Given the description of an element on the screen output the (x, y) to click on. 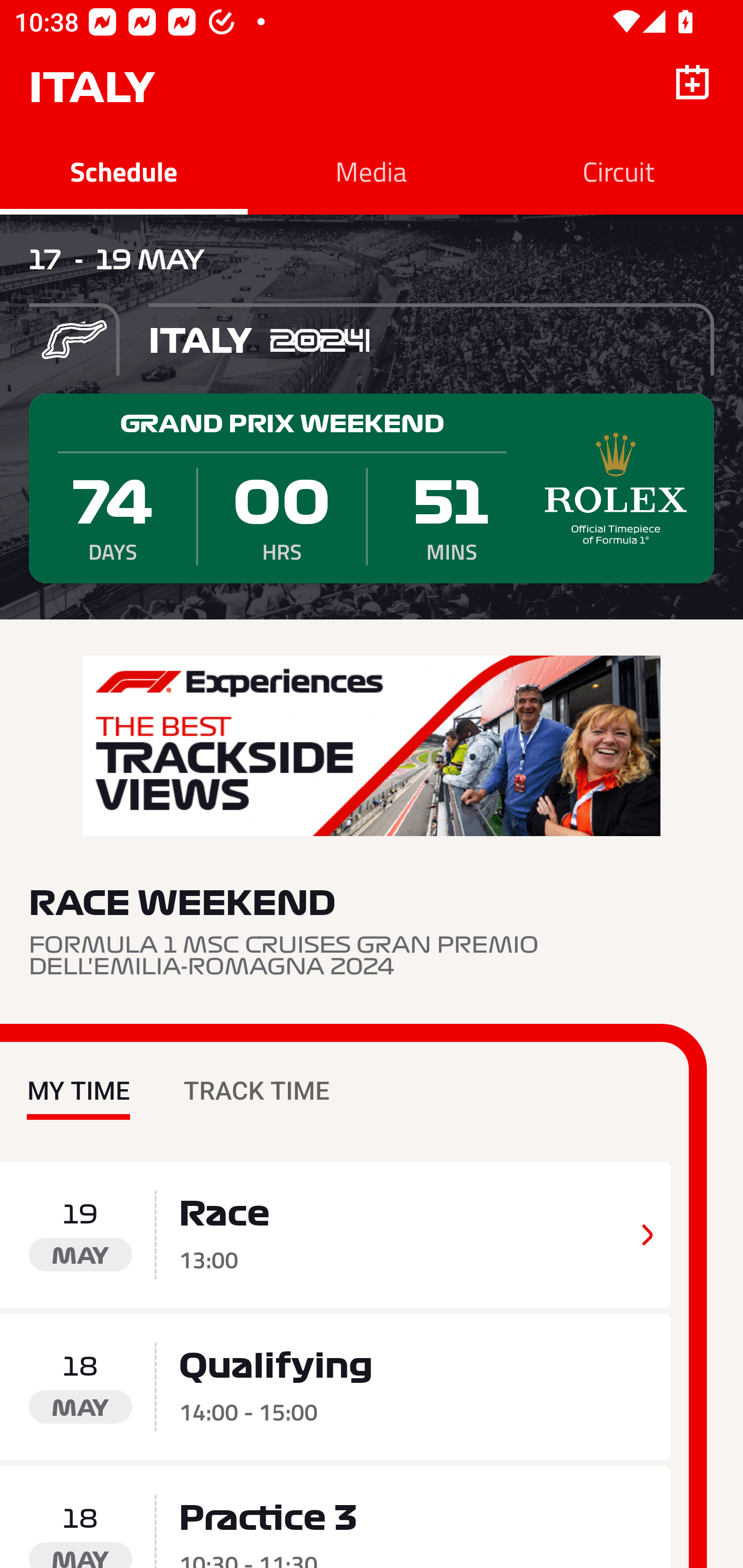
Media (371, 171)
Circuit (619, 171)
calendar-of-events%3Futm_source%3Dformula1 (371, 746)
TRACK TIME (256, 1076)
19 MAY May Race 13:00 (335, 1234)
